Given the description of an element on the screen output the (x, y) to click on. 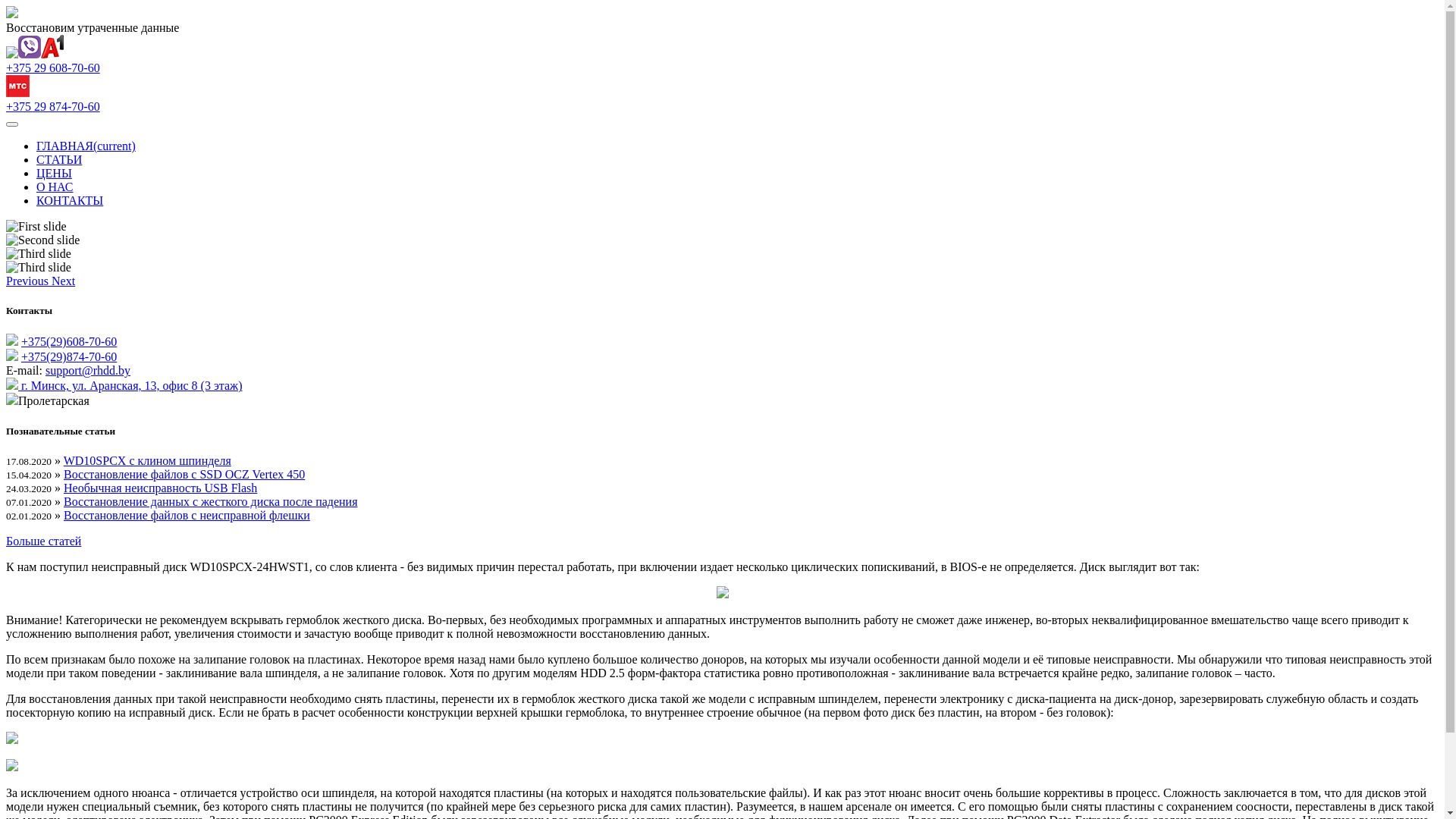
Next Element type: text (63, 280)
+375(29)874-70-60 Element type: text (68, 356)
+375(29)608-70-60 Element type: text (68, 341)
Previous Element type: text (28, 280)
support@rhdd.by Element type: text (87, 370)
+375 29 874-70-60 Element type: text (53, 106)
+375 29 608-70-60 Element type: text (53, 67)
